Given the description of an element on the screen output the (x, y) to click on. 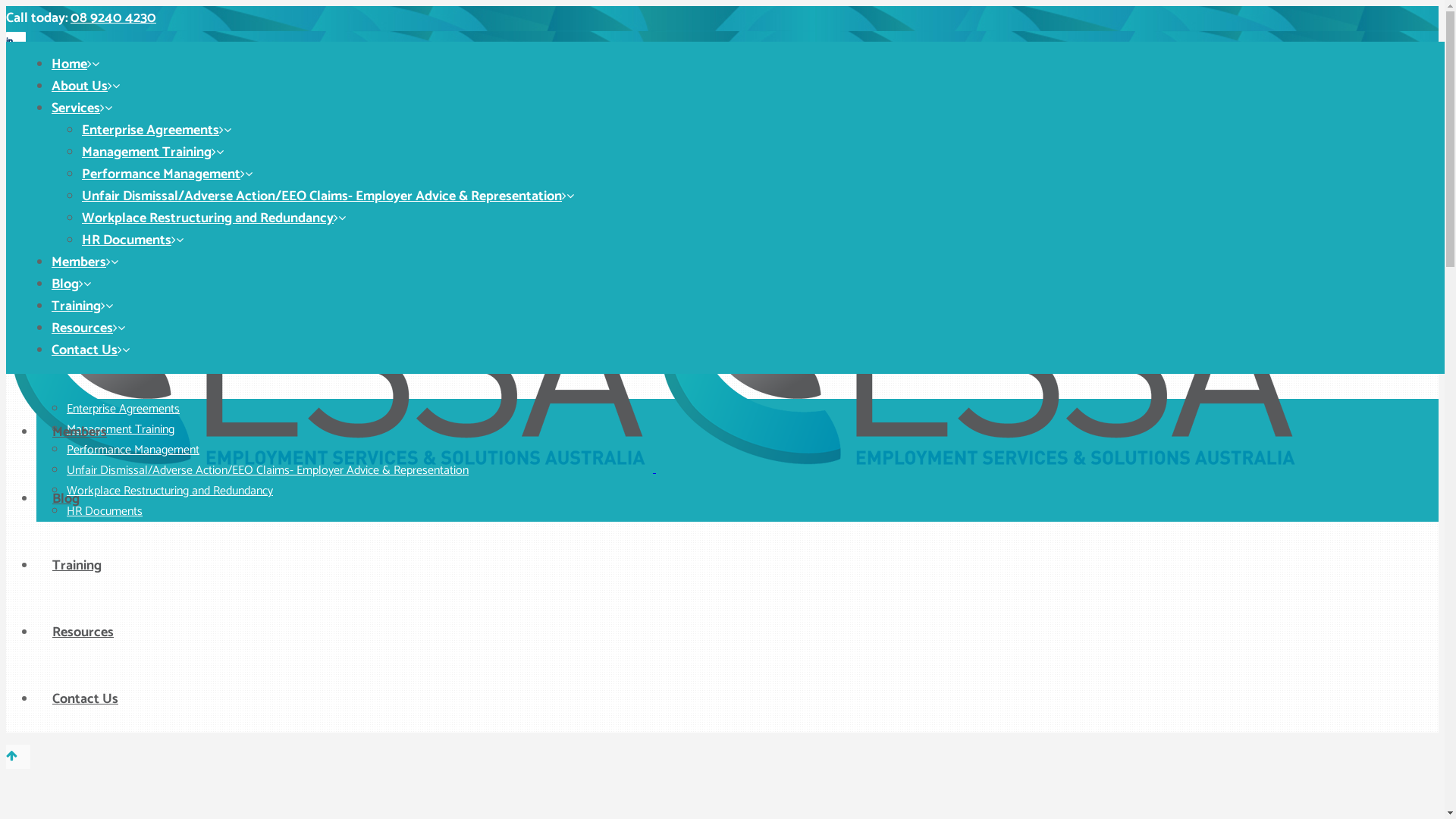
Management Training Element type: text (120, 429)
HR Documents Element type: text (126, 240)
08 9240 4230 Element type: text (113, 17)
Members Element type: text (78, 262)
About Us Element type: text (80, 298)
Blog Element type: text (64, 284)
Training Element type: text (76, 565)
Home Element type: text (69, 64)
Resources Element type: text (82, 632)
Contact Us Element type: text (85, 698)
Members Element type: text (79, 431)
Enterprise Agreements Element type: text (122, 408)
Enterprise Agreements Element type: text (150, 130)
Contact Us Element type: text (84, 349)
Training Element type: text (75, 305)
Services Element type: text (75, 108)
Performance Management Element type: text (132, 449)
Services Element type: text (76, 365)
Performance Management Element type: text (160, 174)
Workplace Restructuring and Redundancy Element type: text (169, 490)
Home Element type: text (69, 231)
Workplace Restructuring and Redundancy Element type: text (207, 218)
HR Documents Element type: text (104, 511)
About Us Element type: text (79, 86)
Blog Element type: text (65, 498)
Management Training Element type: text (146, 152)
Resources Element type: text (81, 327)
